Given the description of an element on the screen output the (x, y) to click on. 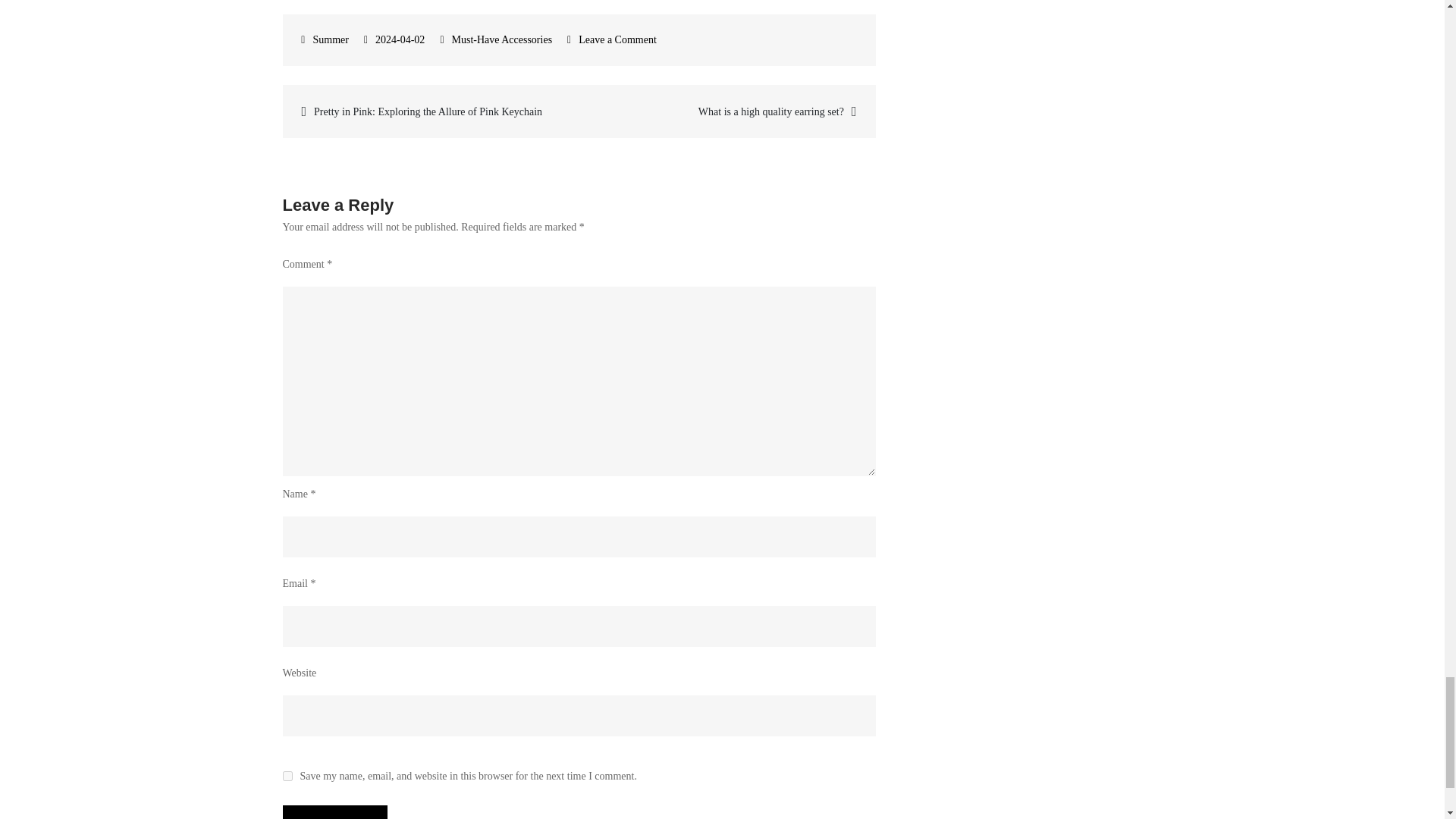
Post Comment (334, 812)
yes (287, 776)
